Given the description of an element on the screen output the (x, y) to click on. 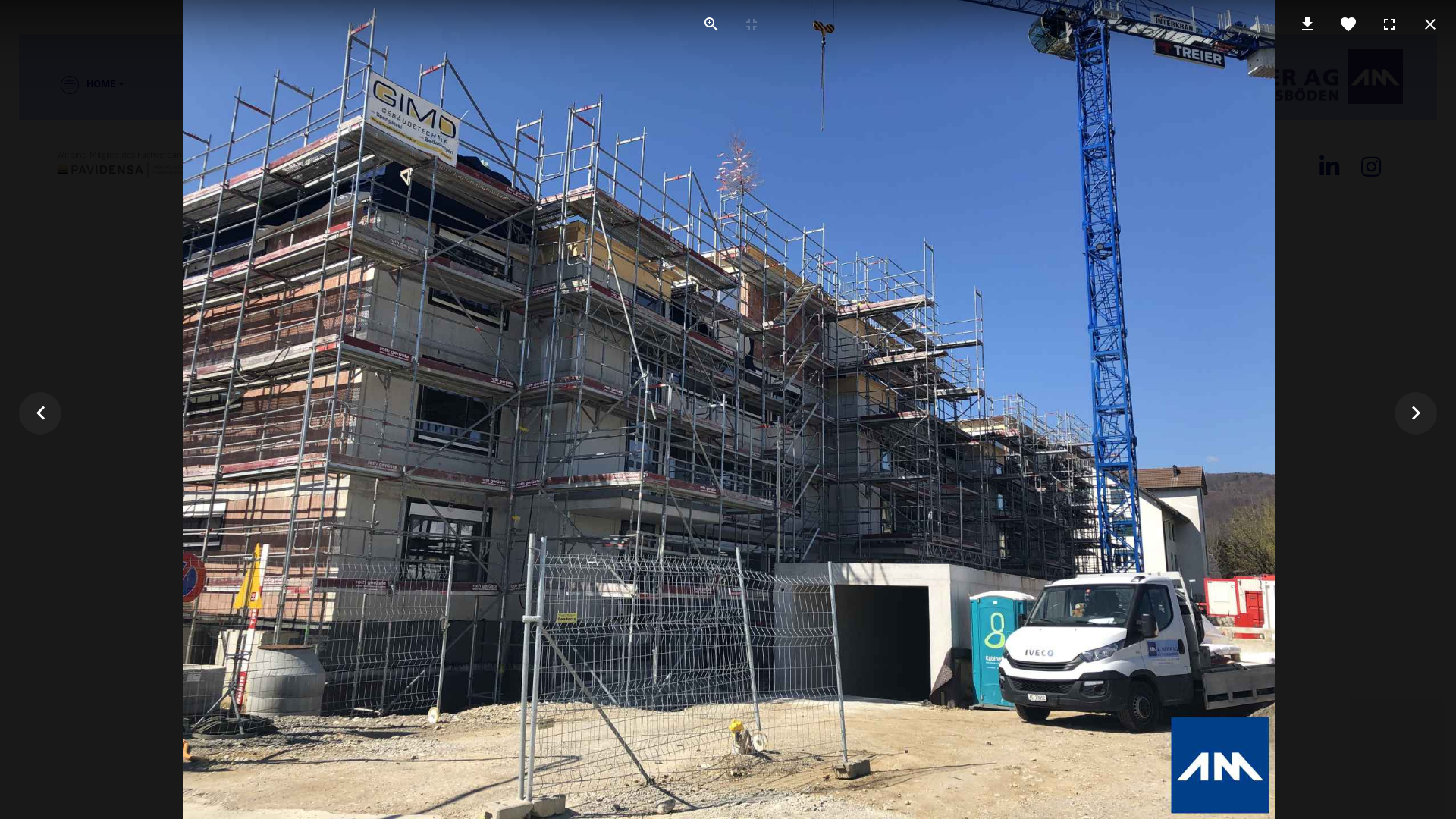
HOME Element type: text (79, 84)
